Given the description of an element on the screen output the (x, y) to click on. 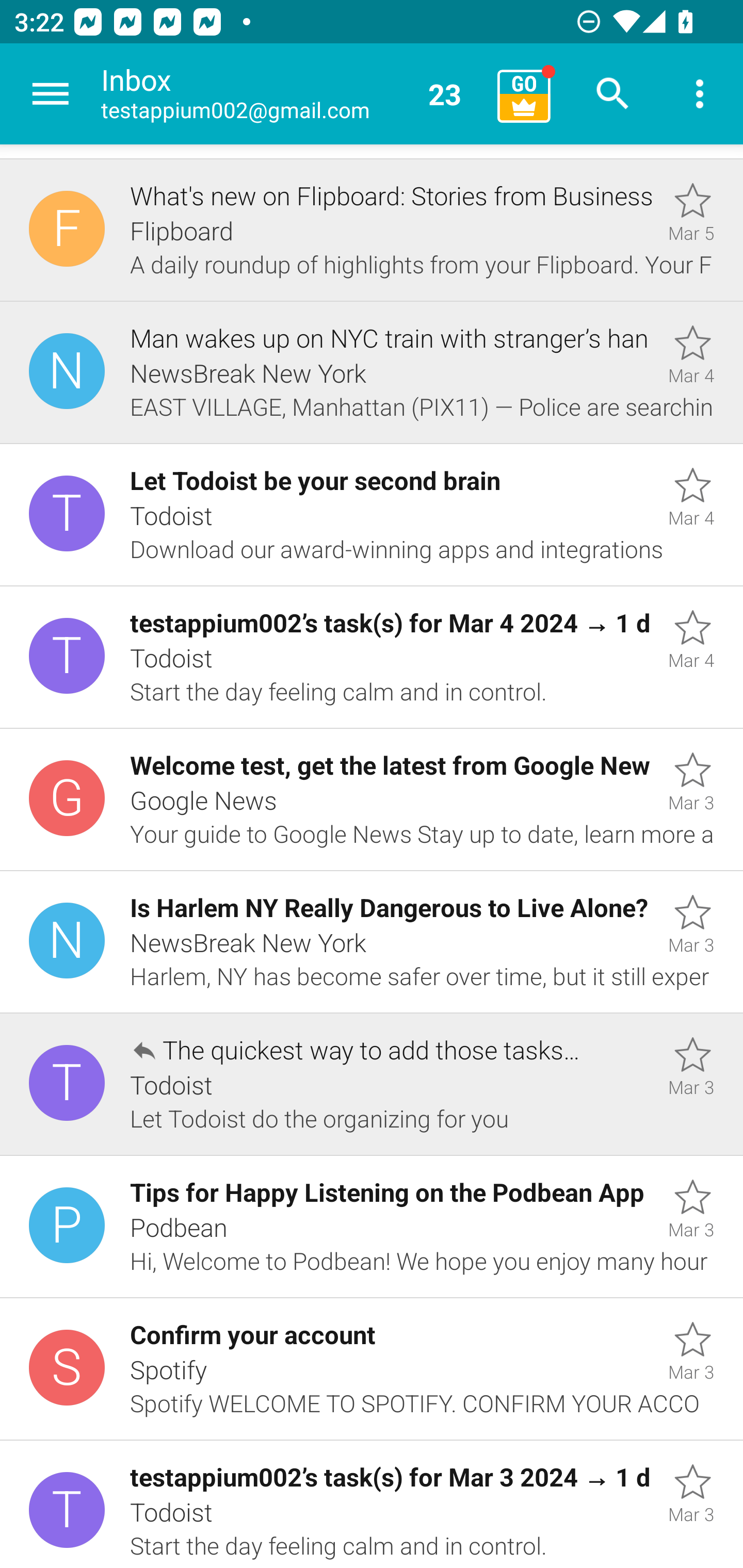
Navigate up (50, 93)
Inbox testappium002@gmail.com 23 (291, 93)
Search (612, 93)
More options (699, 93)
